Given the description of an element on the screen output the (x, y) to click on. 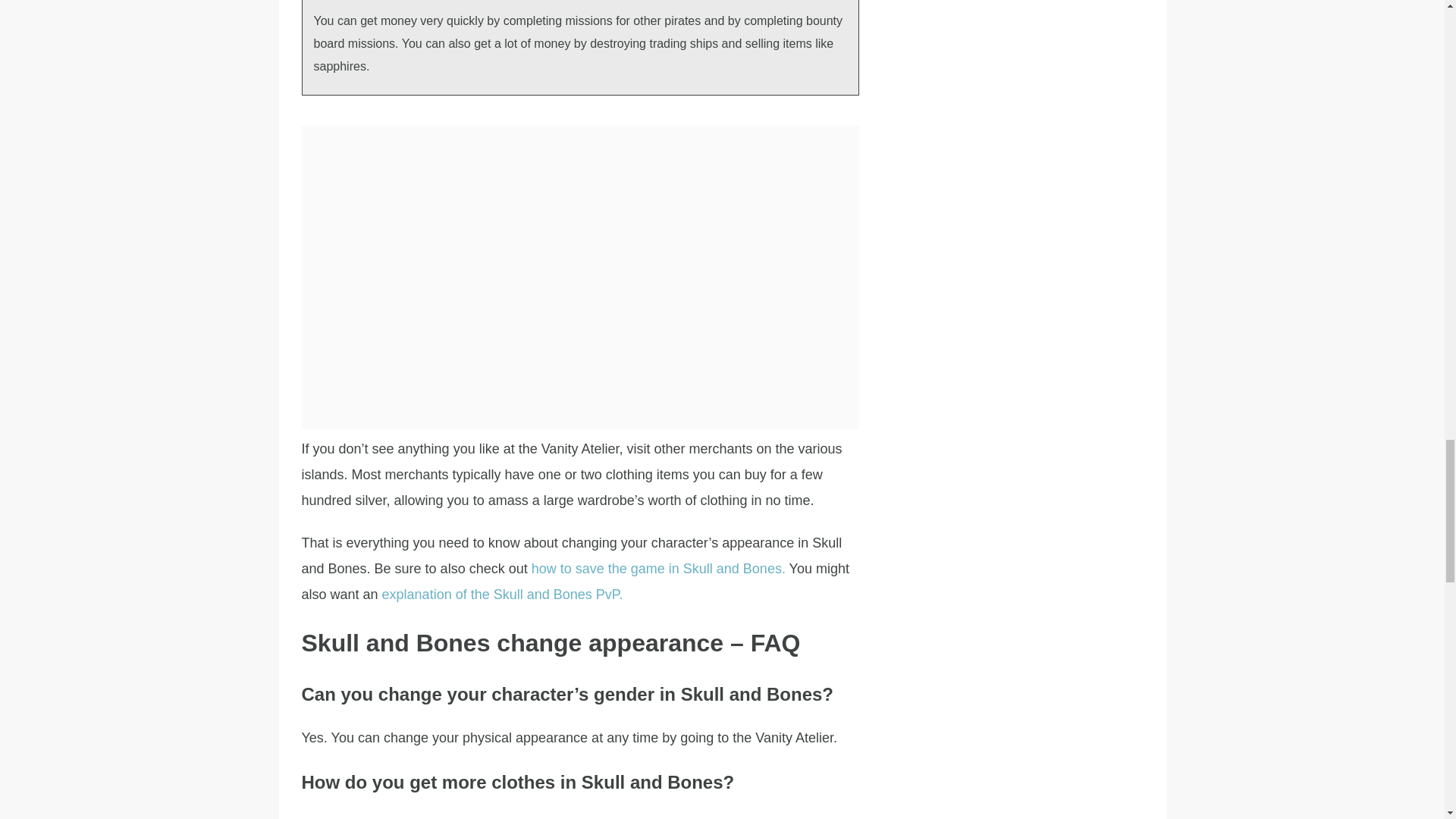
how to save the game in Skull and Bones. (658, 568)
explanation of the Skull and Bones PvP. (502, 594)
